Given the description of an element on the screen output the (x, y) to click on. 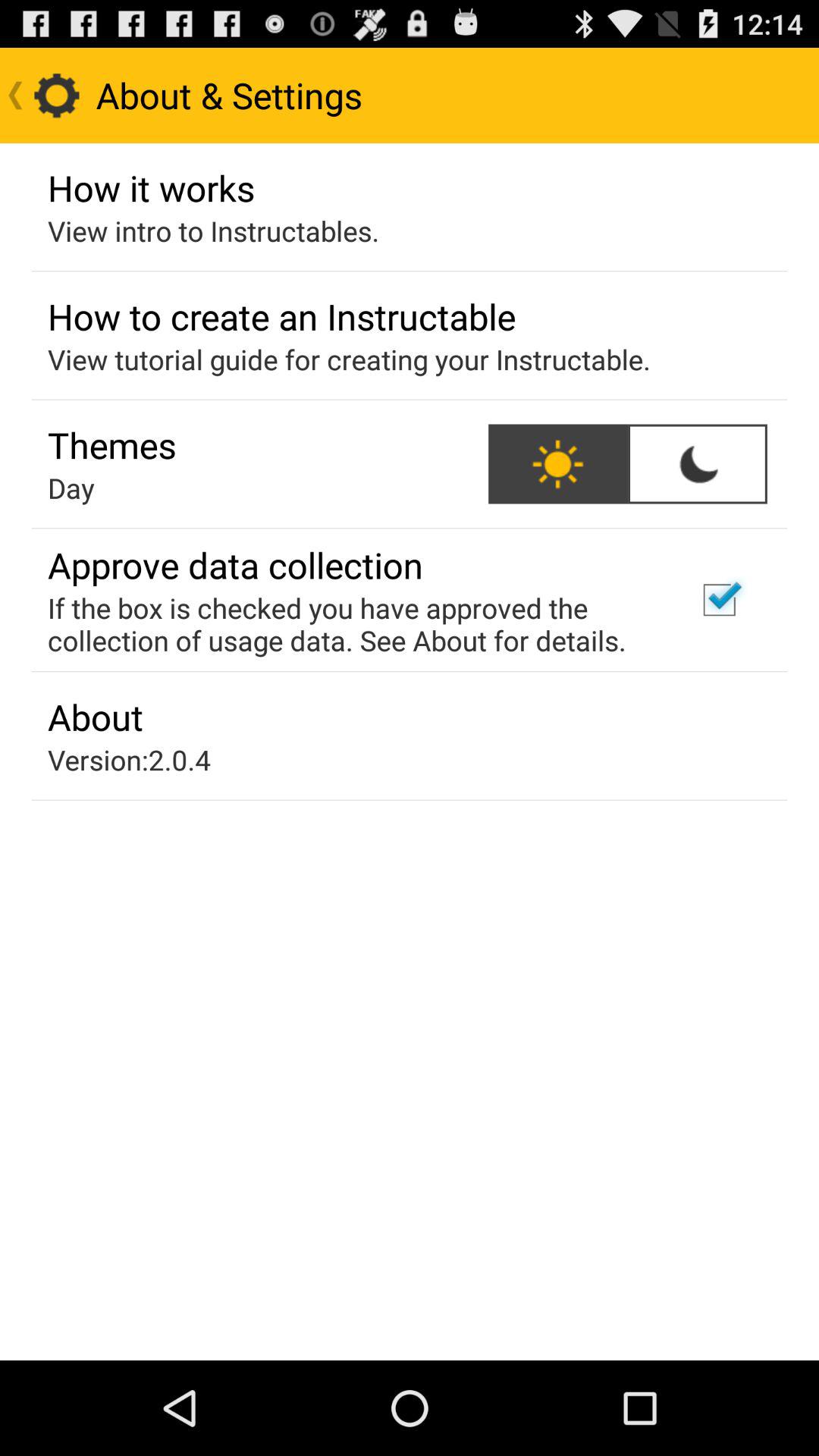
turn off item above themes icon (348, 359)
